Given the description of an element on the screen output the (x, y) to click on. 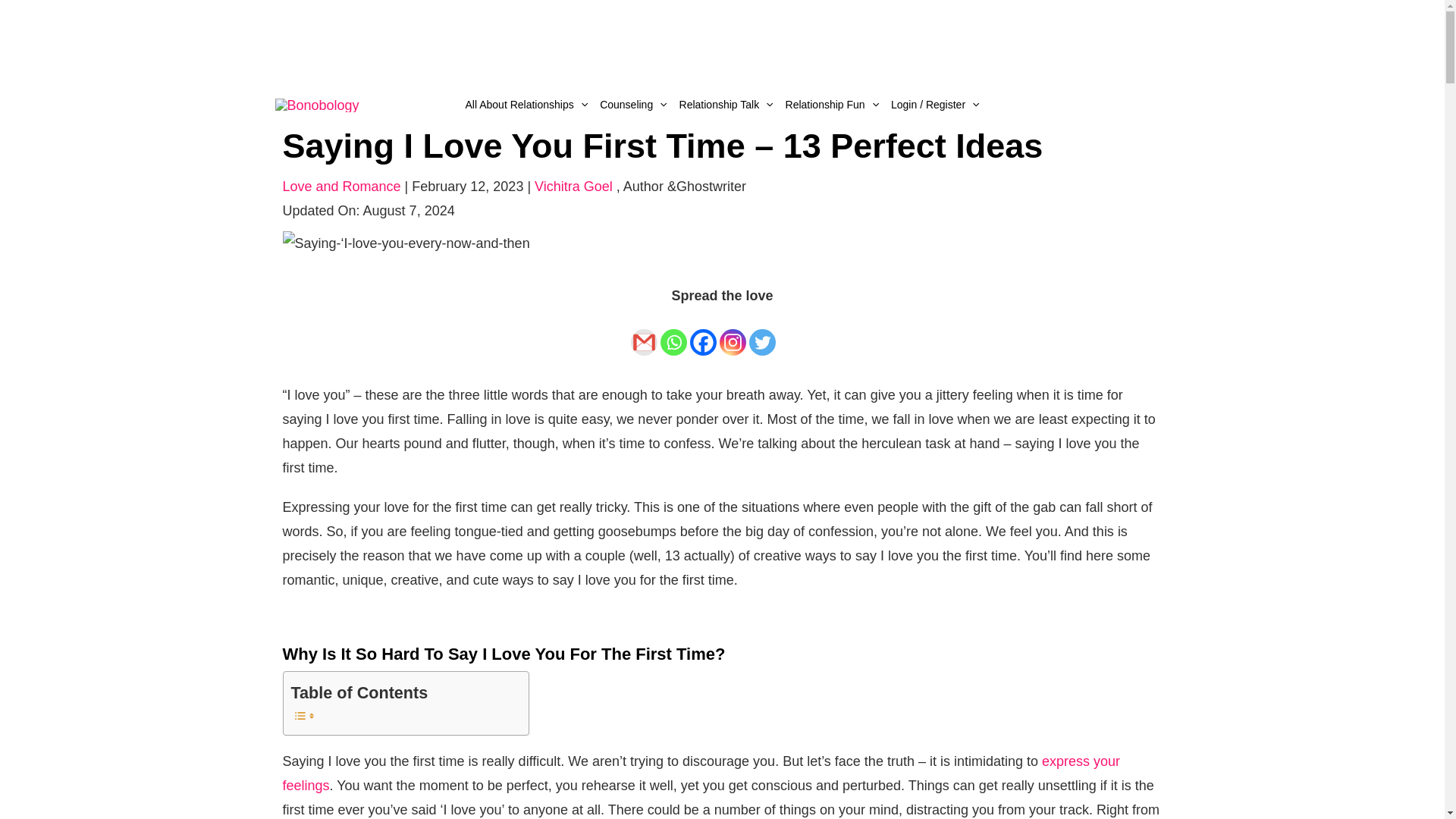
All About Relationships (527, 104)
cropped-cropped-Bonobology-2.png (316, 103)
Saying I Love You First Time (405, 242)
Editor Info (684, 186)
